Given the description of an element on the screen output the (x, y) to click on. 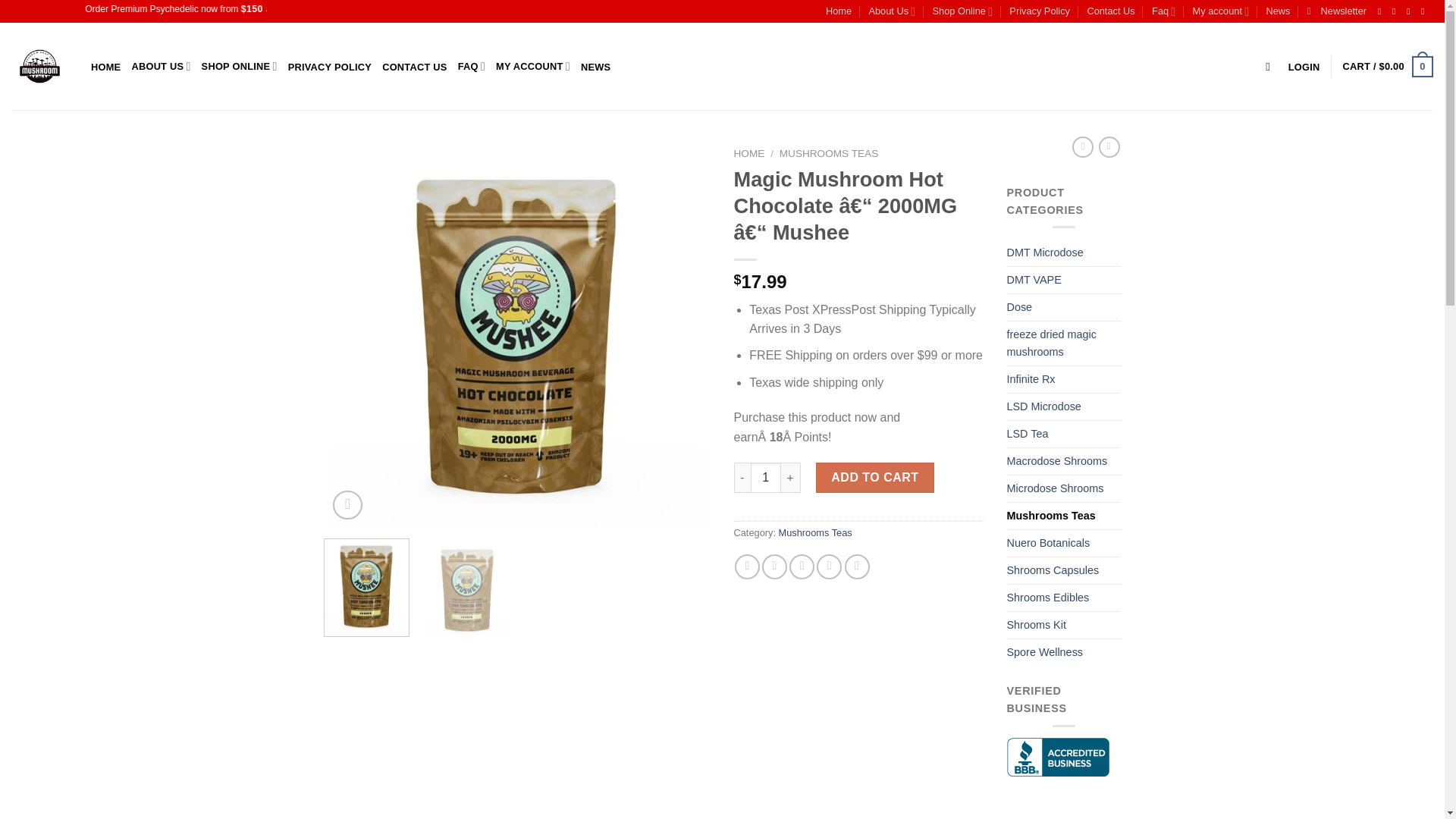
HOME (105, 66)
Shop Online (962, 11)
Cart (1387, 66)
ABOUT US (160, 66)
Contact Us (1110, 11)
SHOP ONLINE (240, 66)
Faq (1162, 11)
Newsletter (1337, 11)
About Us (891, 11)
Sign up for Newsletter (1337, 11)
Privacy Policy (1039, 11)
My account (1220, 11)
1 (765, 477)
Zoom (347, 505)
